Given the description of an element on the screen output the (x, y) to click on. 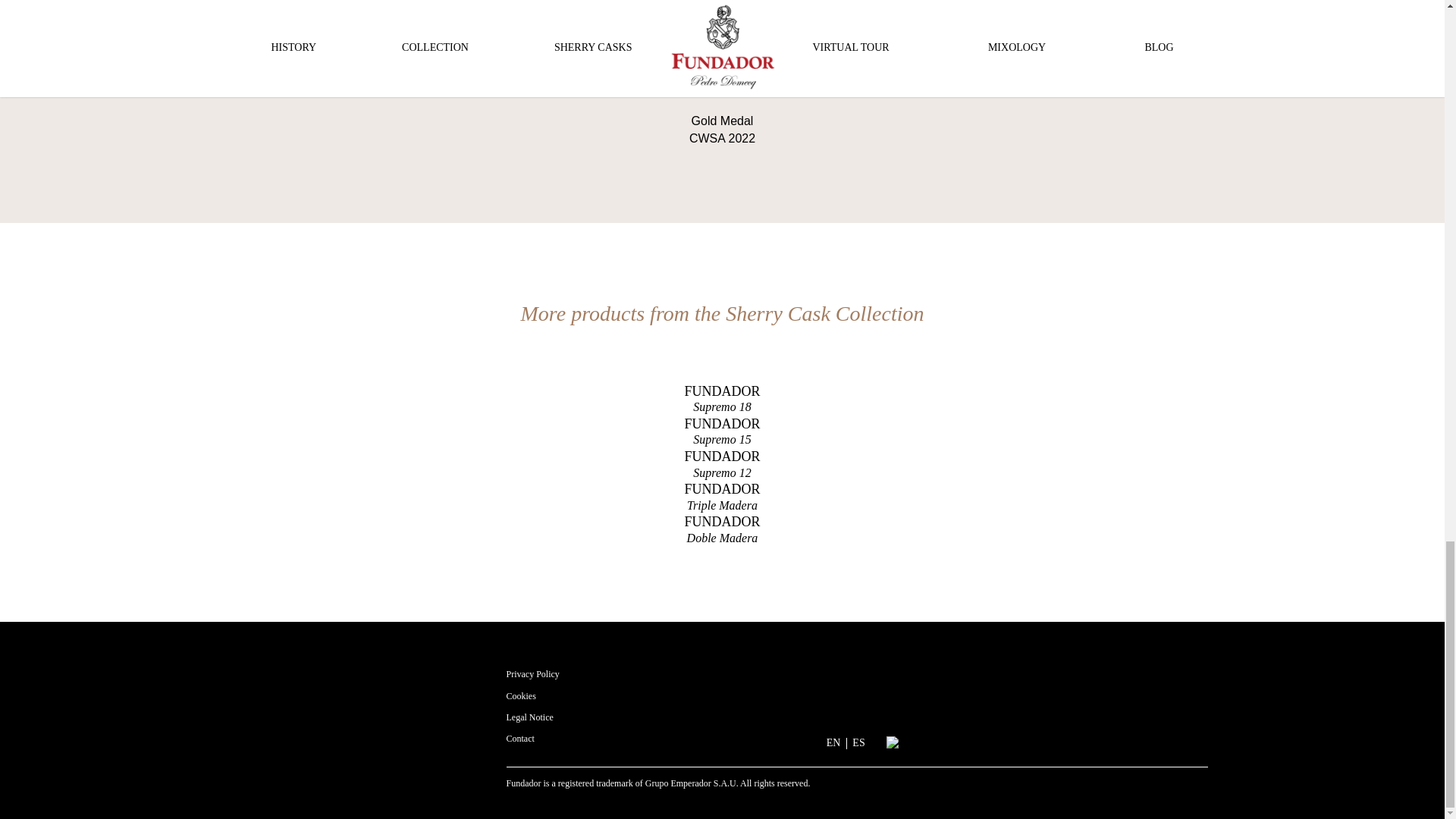
en (721, 463)
Privacy Policy (834, 742)
Cookies (532, 674)
ES (520, 695)
Fundador Doble Madera (721, 431)
Fundador Supremo 15 (857, 742)
EN (721, 529)
Contact (721, 431)
Legal Notice (834, 742)
Fundador Supremo 12 (520, 738)
Fundador Triple Madera (529, 716)
